Given the description of an element on the screen output the (x, y) to click on. 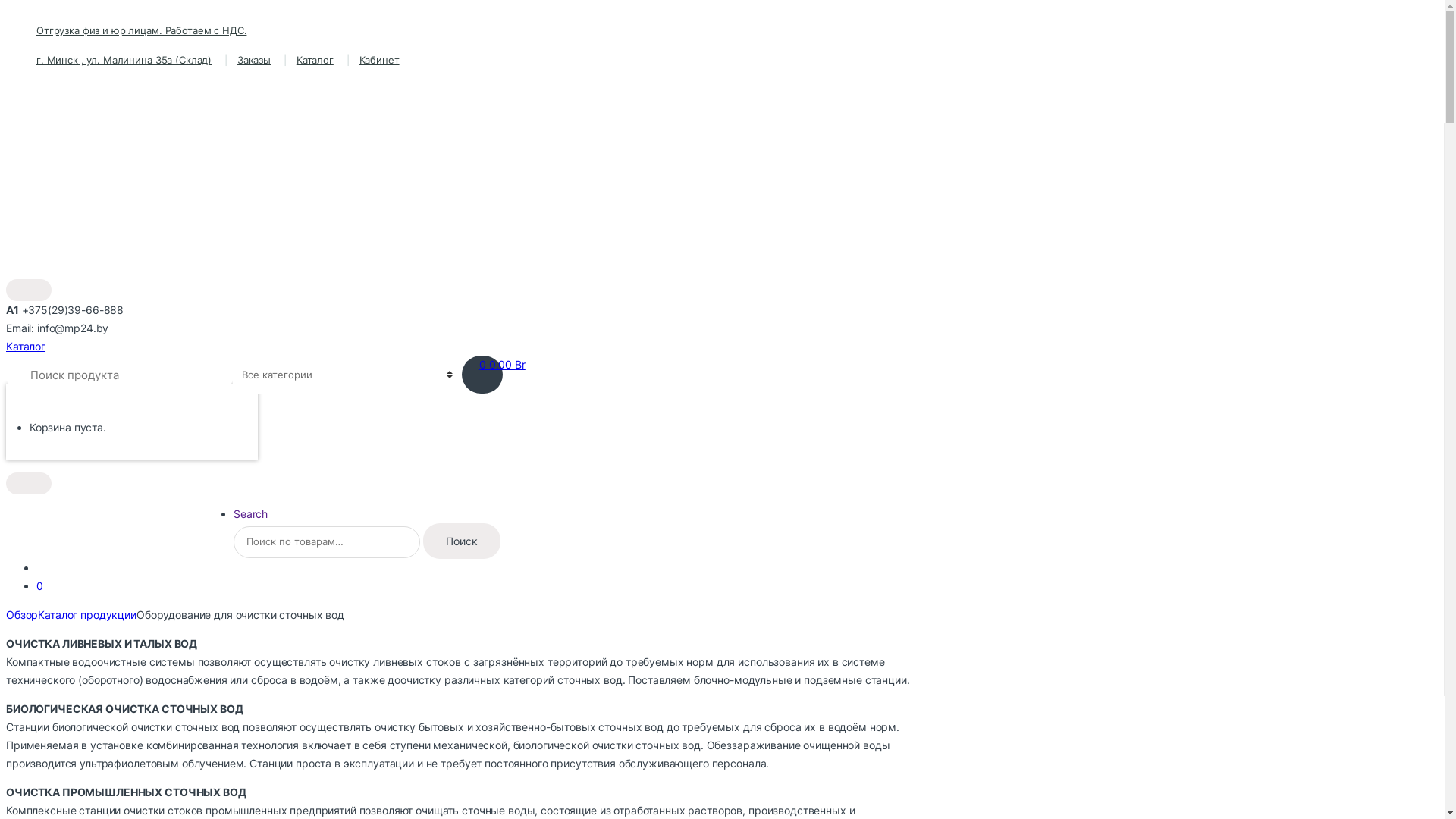
Skip to navigation Element type: text (49, 15)
Skip to content Element type: text (43, 15)
0 0.00 Br Element type: text (502, 363)
Search Element type: text (250, 513)
0 Element type: text (39, 585)
